Given the description of an element on the screen output the (x, y) to click on. 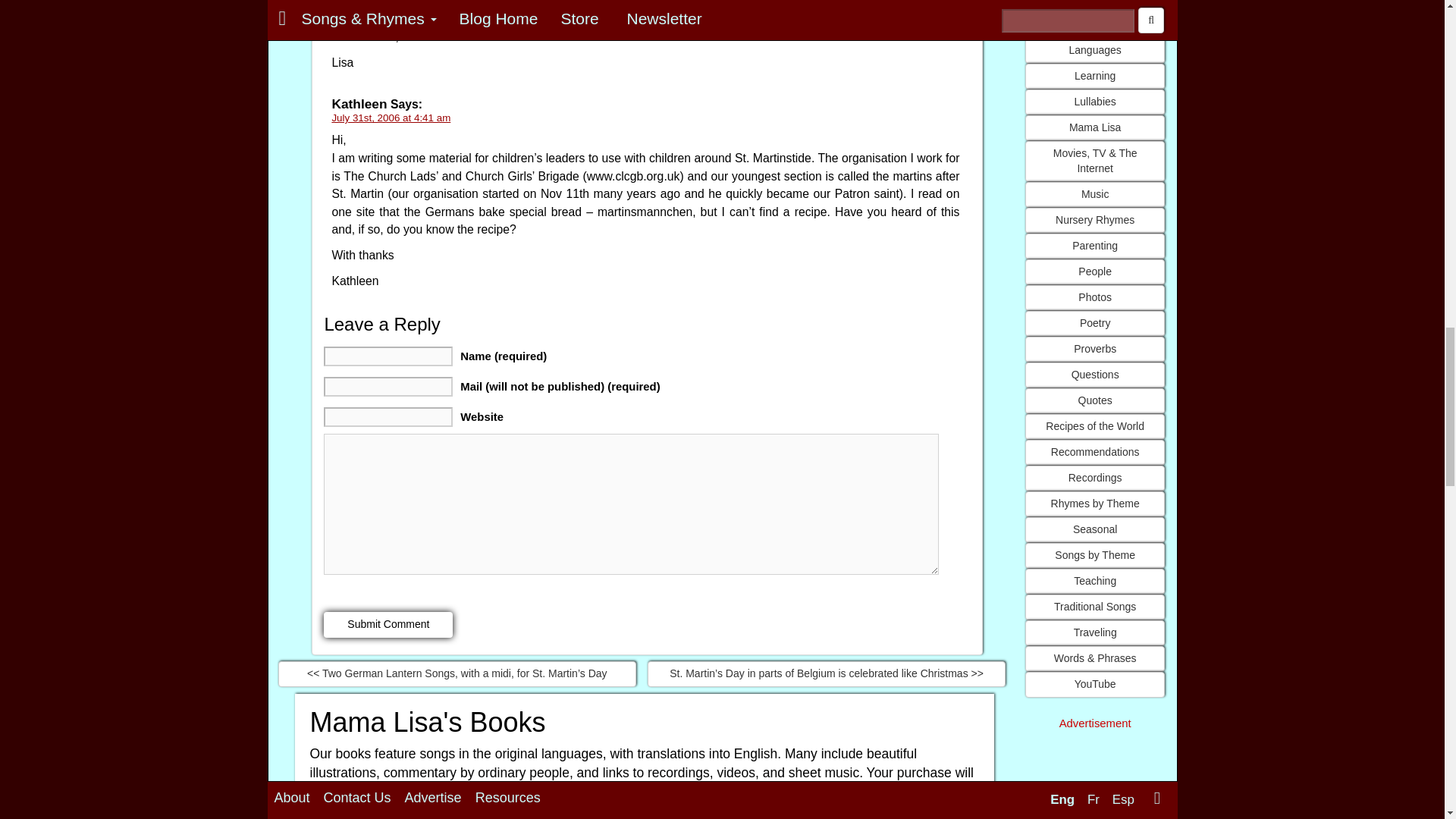
Submit Comment (387, 624)
